Given the description of an element on the screen output the (x, y) to click on. 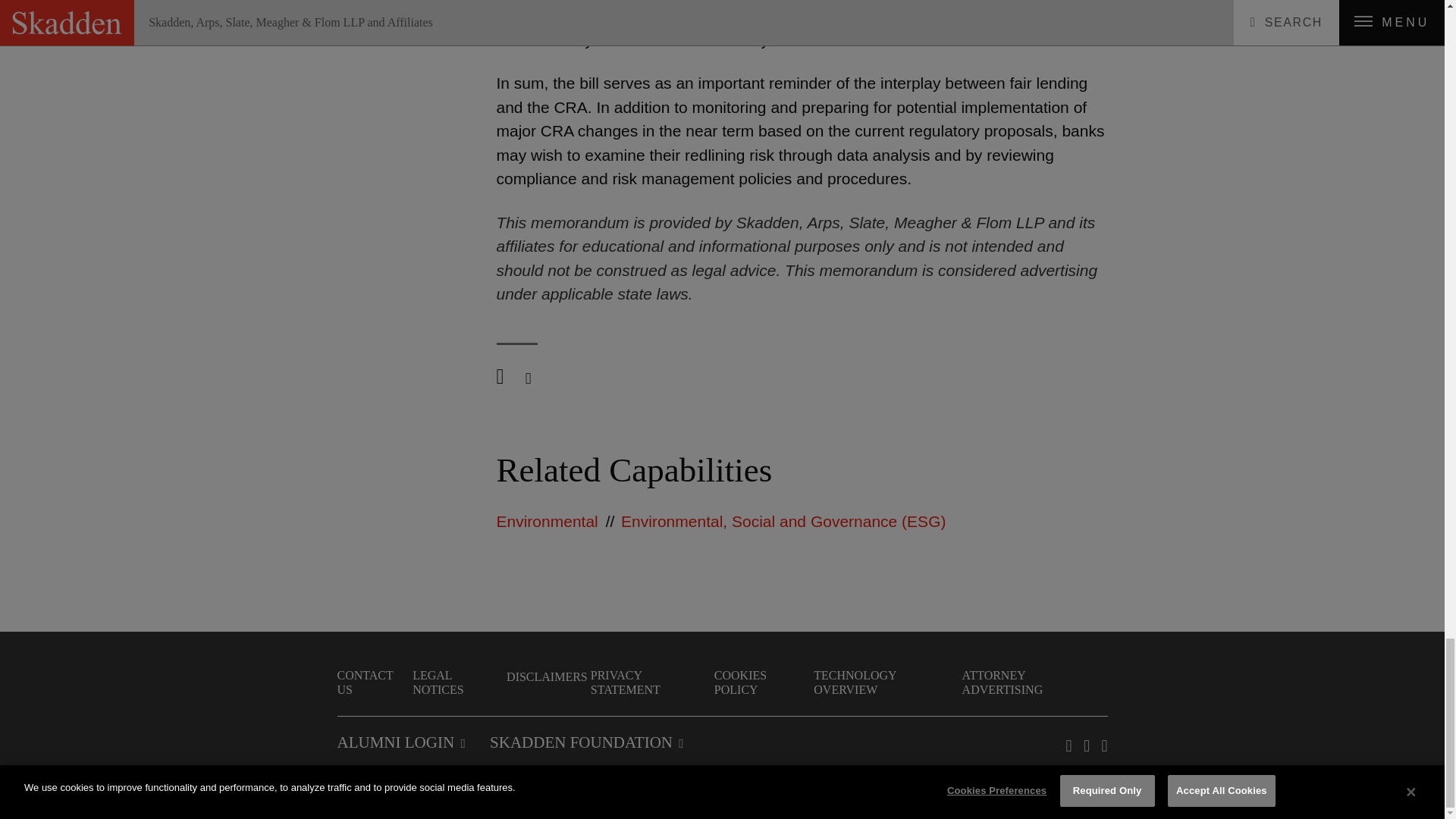
Navigate to Alumni Login section (400, 742)
DISCLAIMERS (547, 676)
CONTACT US (372, 682)
ATTORNEY ADVERTISING (1033, 682)
LEGAL NOTICES (457, 682)
ALUMNI LOGIN (400, 742)
Environmental (546, 521)
COOKIES POLICY (762, 682)
Navigate to Skadden Foundation section (585, 742)
Skadden.com (375, 796)
